Given the description of an element on the screen output the (x, y) to click on. 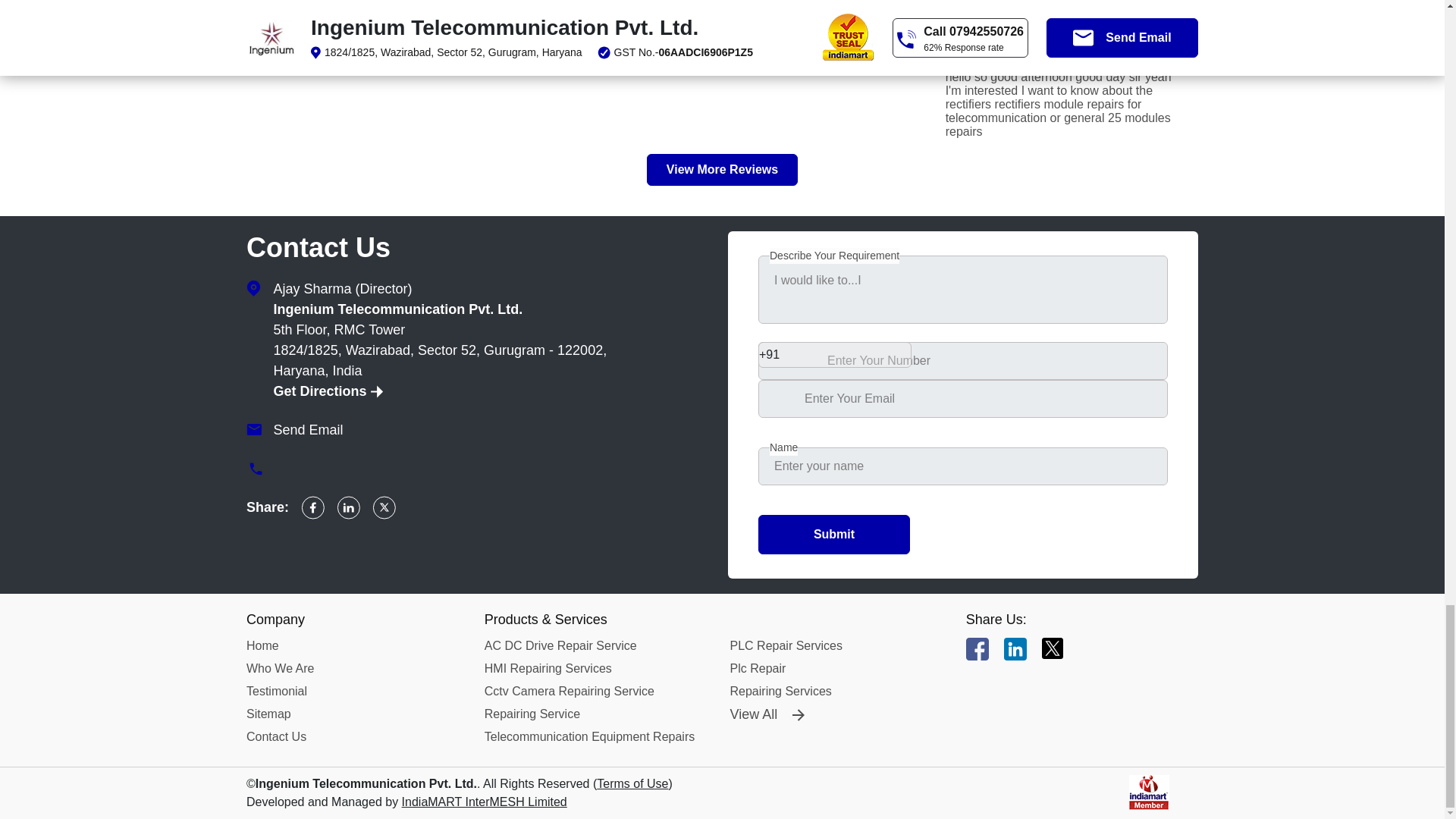
Submit (834, 534)
